Given the description of an element on the screen output the (x, y) to click on. 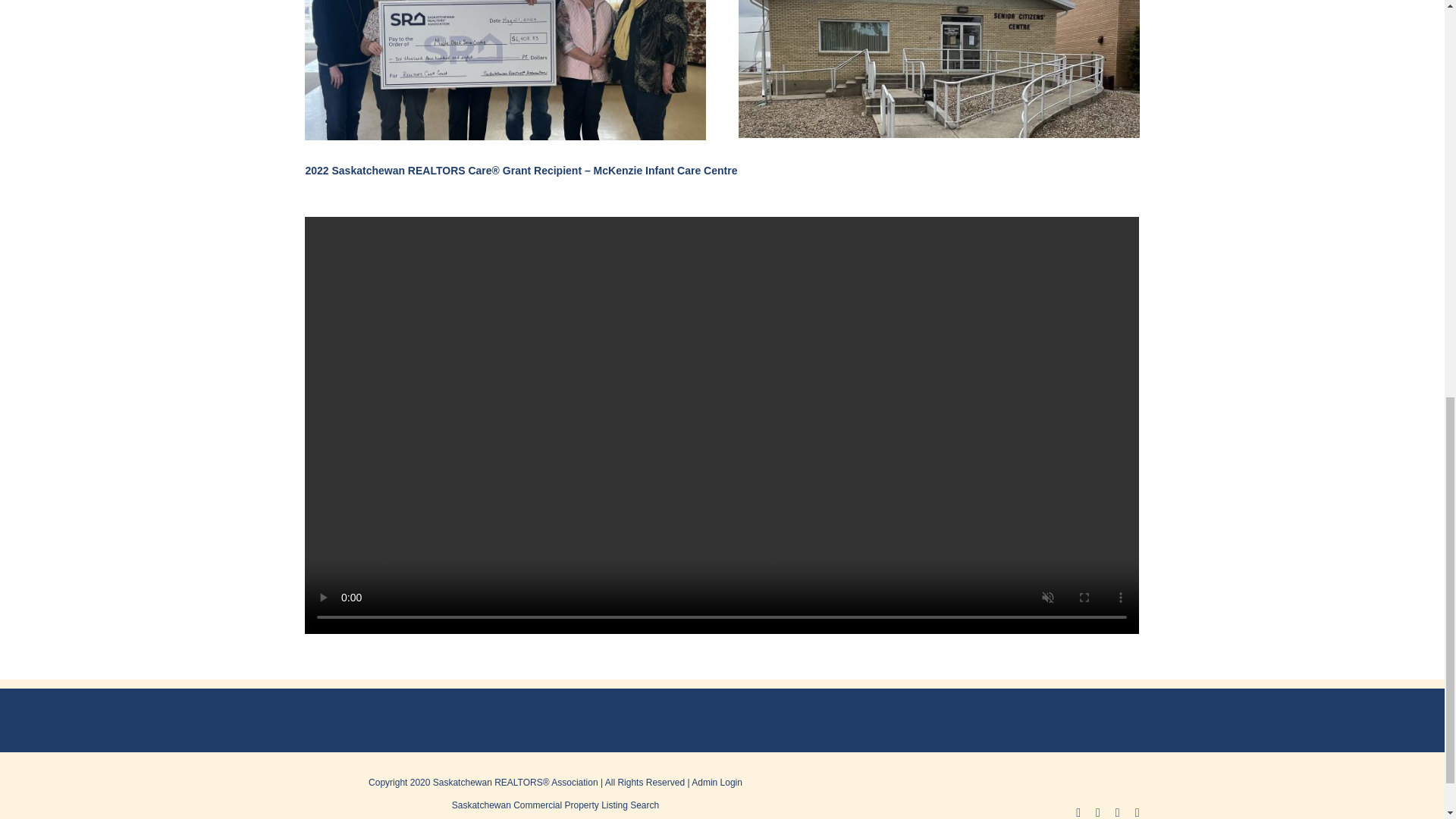
Image 20240521 191001 D6edb8a4 (504, 69)
Image 20240521 201112 9fbf6252 (938, 69)
